Given the description of an element on the screen output the (x, y) to click on. 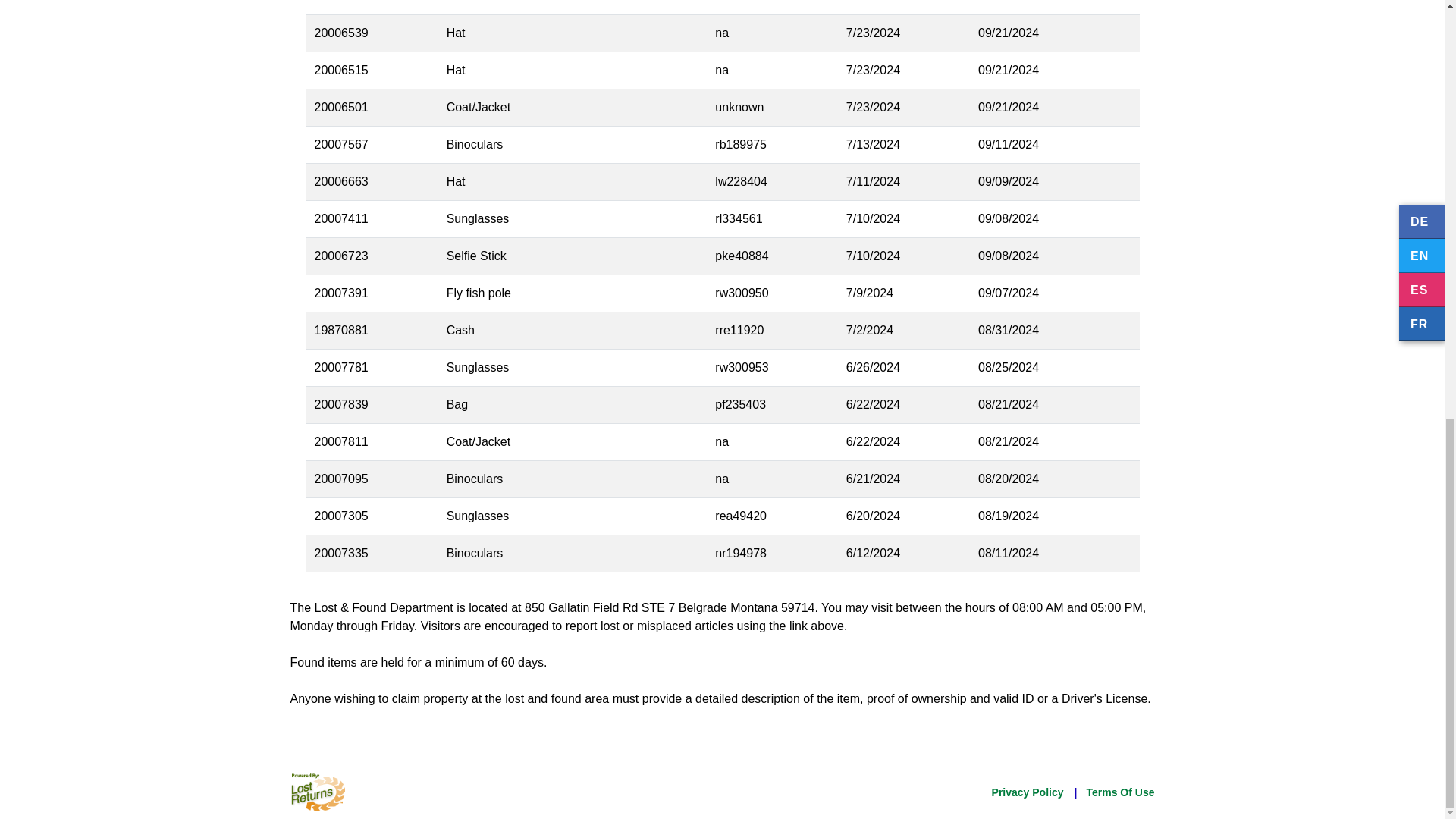
Terms Of Use (1120, 792)
Privacy Policy (1027, 792)
